Given the description of an element on the screen output the (x, y) to click on. 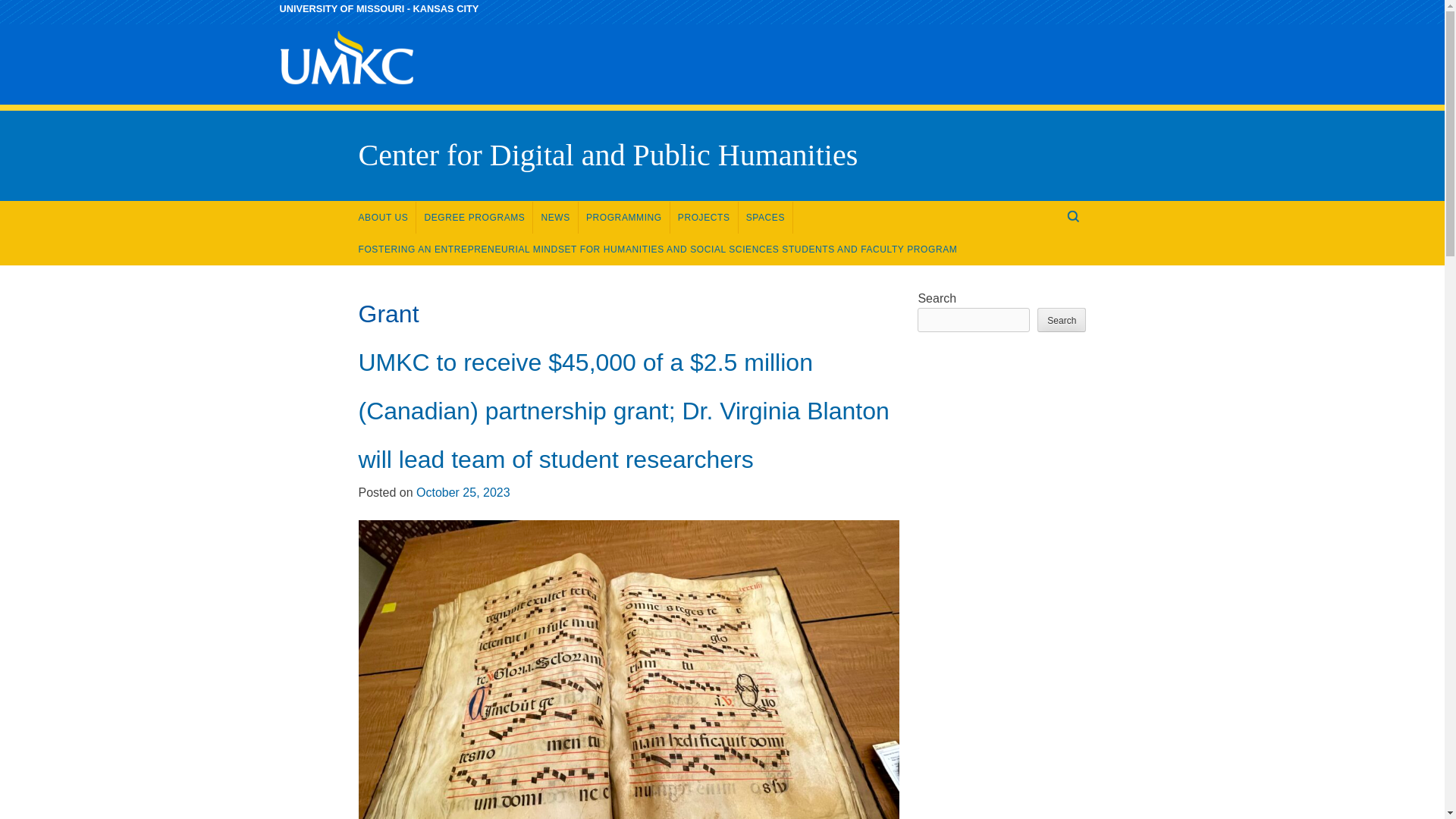
University of Missouri-Kansas City Homepage (345, 94)
Center for Digital and Public Humanities (607, 154)
Search (24, 9)
SPACES (765, 217)
October 25, 2023 (463, 492)
University of Missouri - Kansas City Homepage (379, 8)
UMKC Logo (345, 57)
ABOUT US (383, 217)
PROGRAMMING (623, 217)
